Given the description of an element on the screen output the (x, y) to click on. 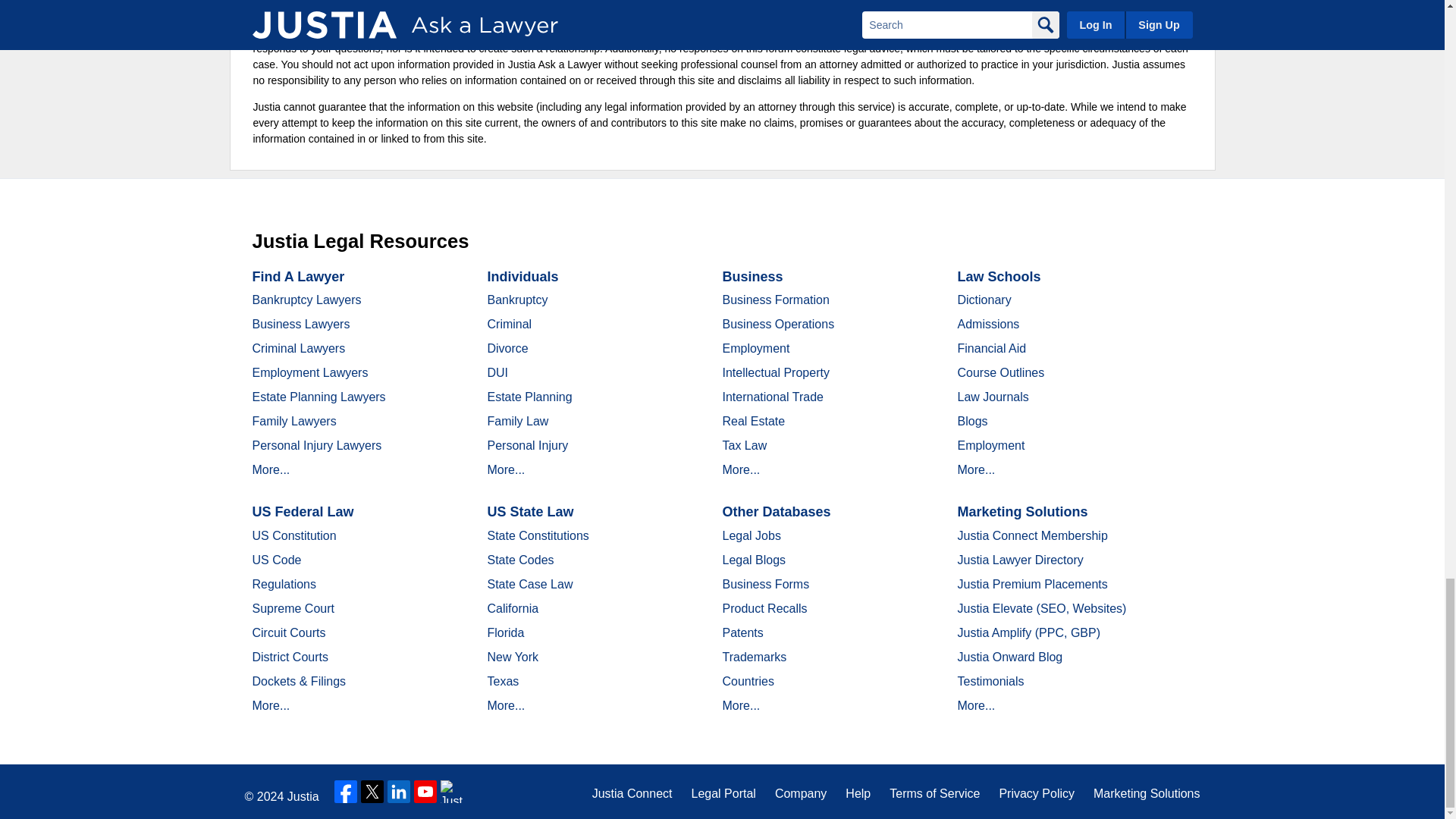
Facebook (345, 791)
